Given the description of an element on the screen output the (x, y) to click on. 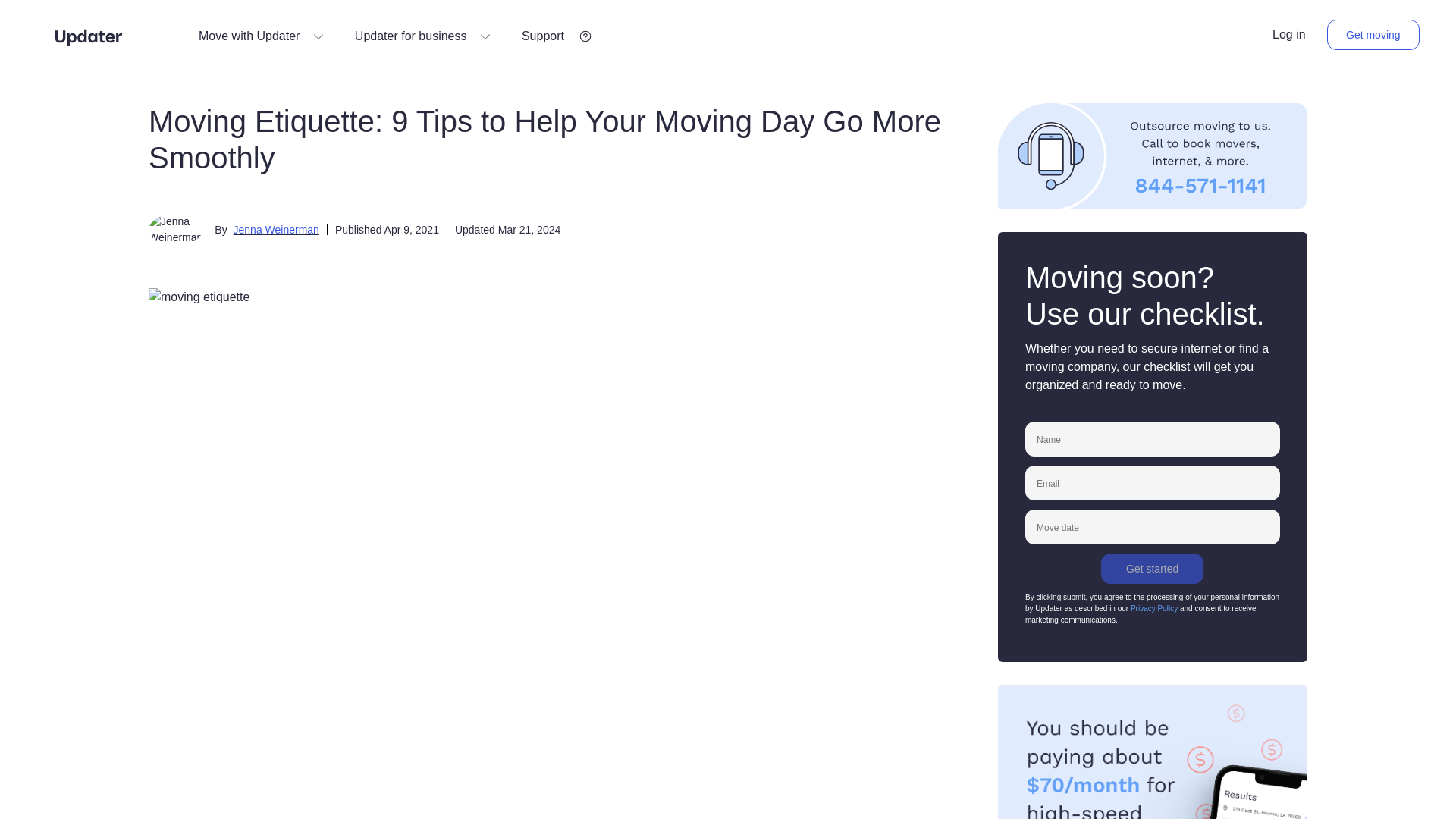
Updater for business (422, 36)
Support (554, 35)
Log in (1289, 34)
Updater (88, 36)
Get moving (1372, 34)
Move with Updater (261, 36)
